Given the description of an element on the screen output the (x, y) to click on. 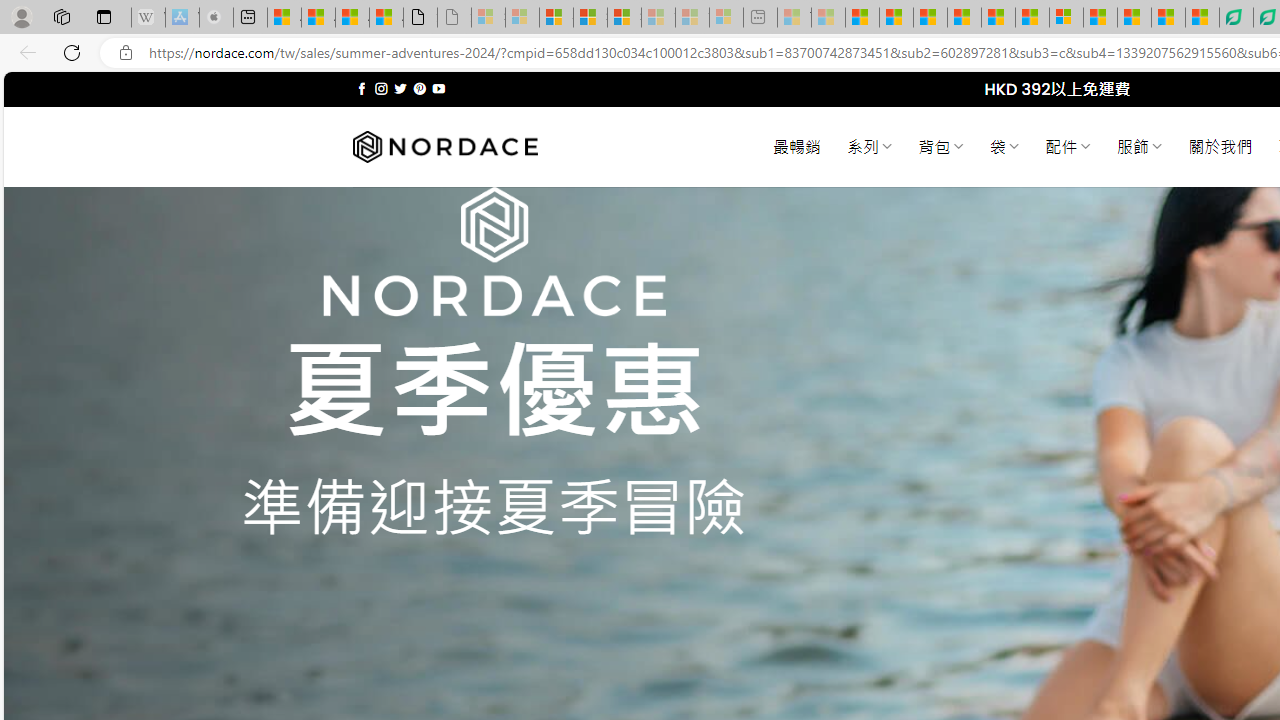
Follow on YouTube (438, 88)
Wikipedia - Sleeping (148, 17)
Microsoft Services Agreement - Sleeping (521, 17)
LendingTree - Compare Lenders (1236, 17)
